Given the description of an element on the screen output the (x, y) to click on. 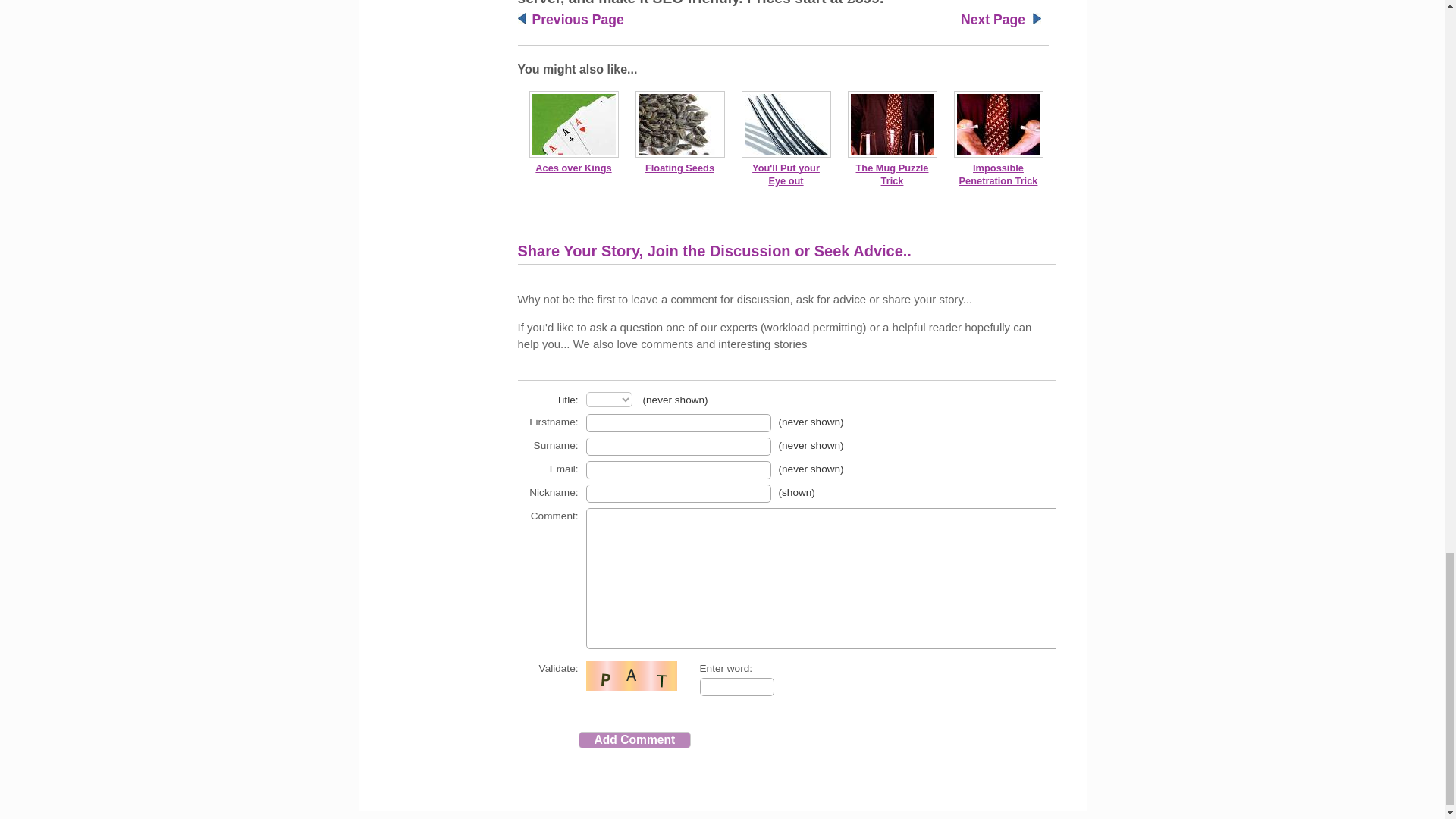
Previous Page (578, 19)
Next Page (992, 19)
Aces over Kings (573, 167)
The Mug Puzzle Trick (892, 174)
Add Comment (634, 740)
Impossible Penetration Trick (998, 174)
Floating Seeds (679, 167)
Add Comment (634, 740)
You'll Put your Eye out (785, 174)
